Given the description of an element on the screen output the (x, y) to click on. 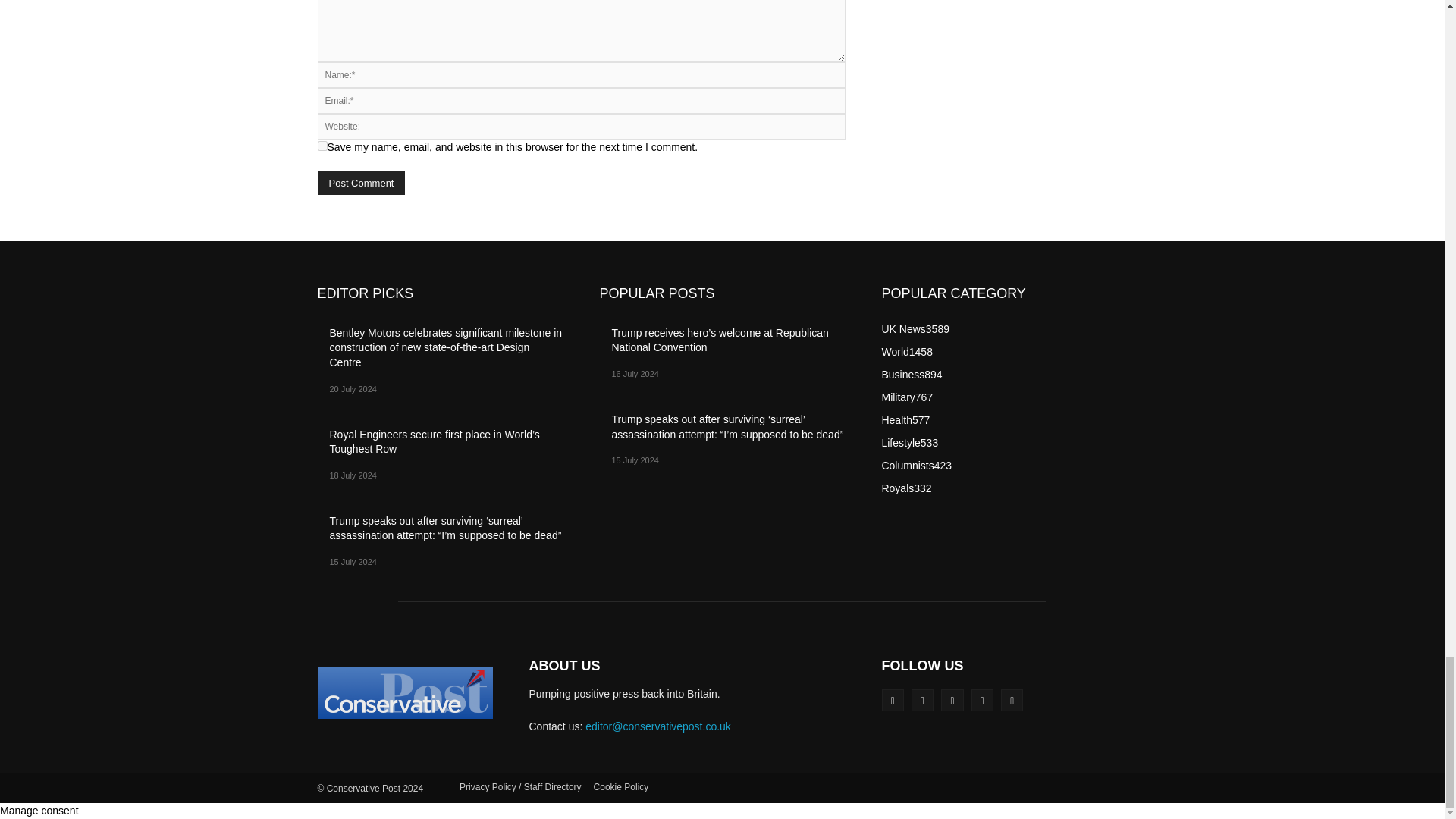
yes (321, 145)
Post Comment (360, 182)
